Given the description of an element on the screen output the (x, y) to click on. 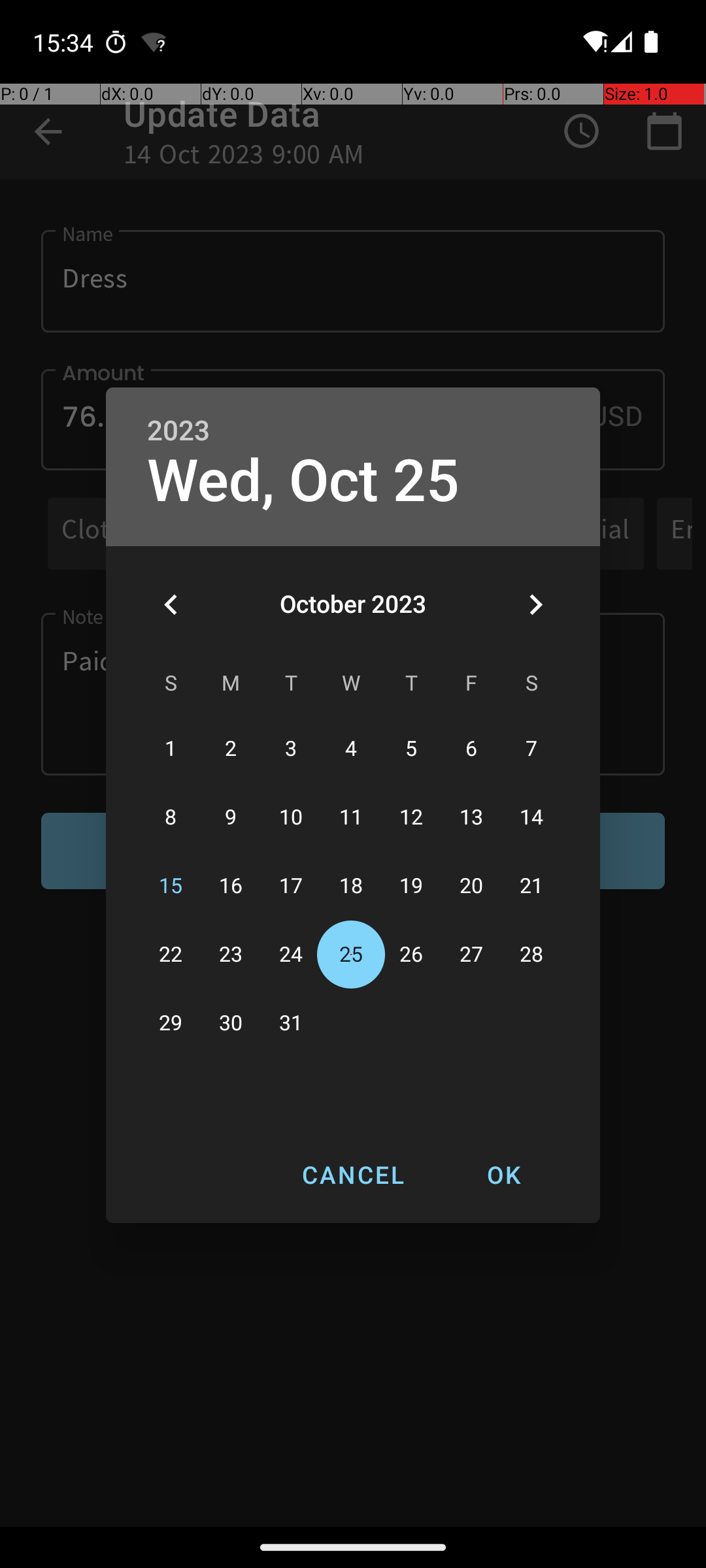
Wed, Oct 25 Element type: android.widget.TextView (303, 480)
